Given the description of an element on the screen output the (x, y) to click on. 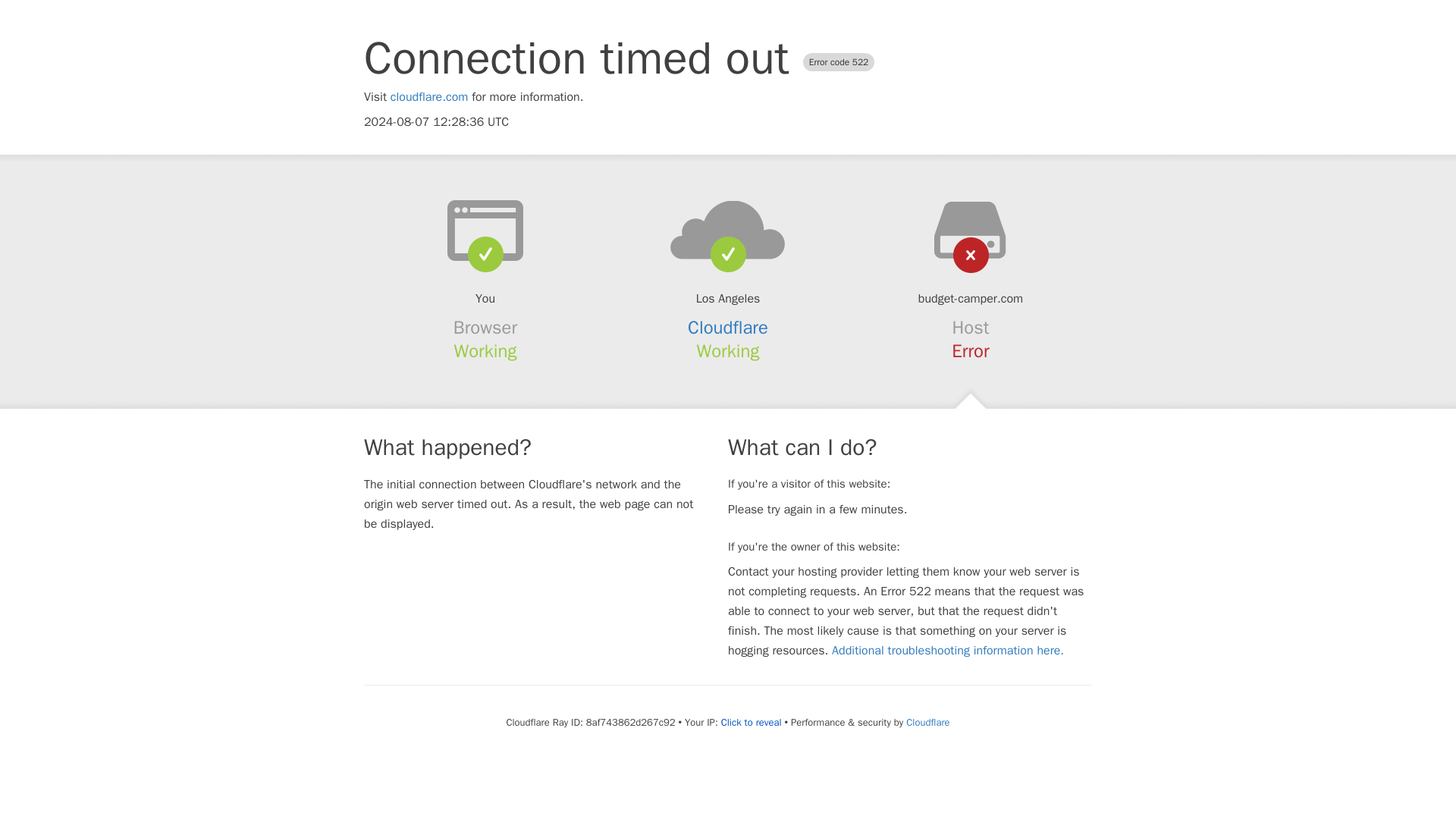
Cloudflare (727, 327)
Cloudflare (927, 721)
Click to reveal (750, 722)
Additional troubleshooting information here. (947, 650)
cloudflare.com (429, 96)
